Given the description of an element on the screen output the (x, y) to click on. 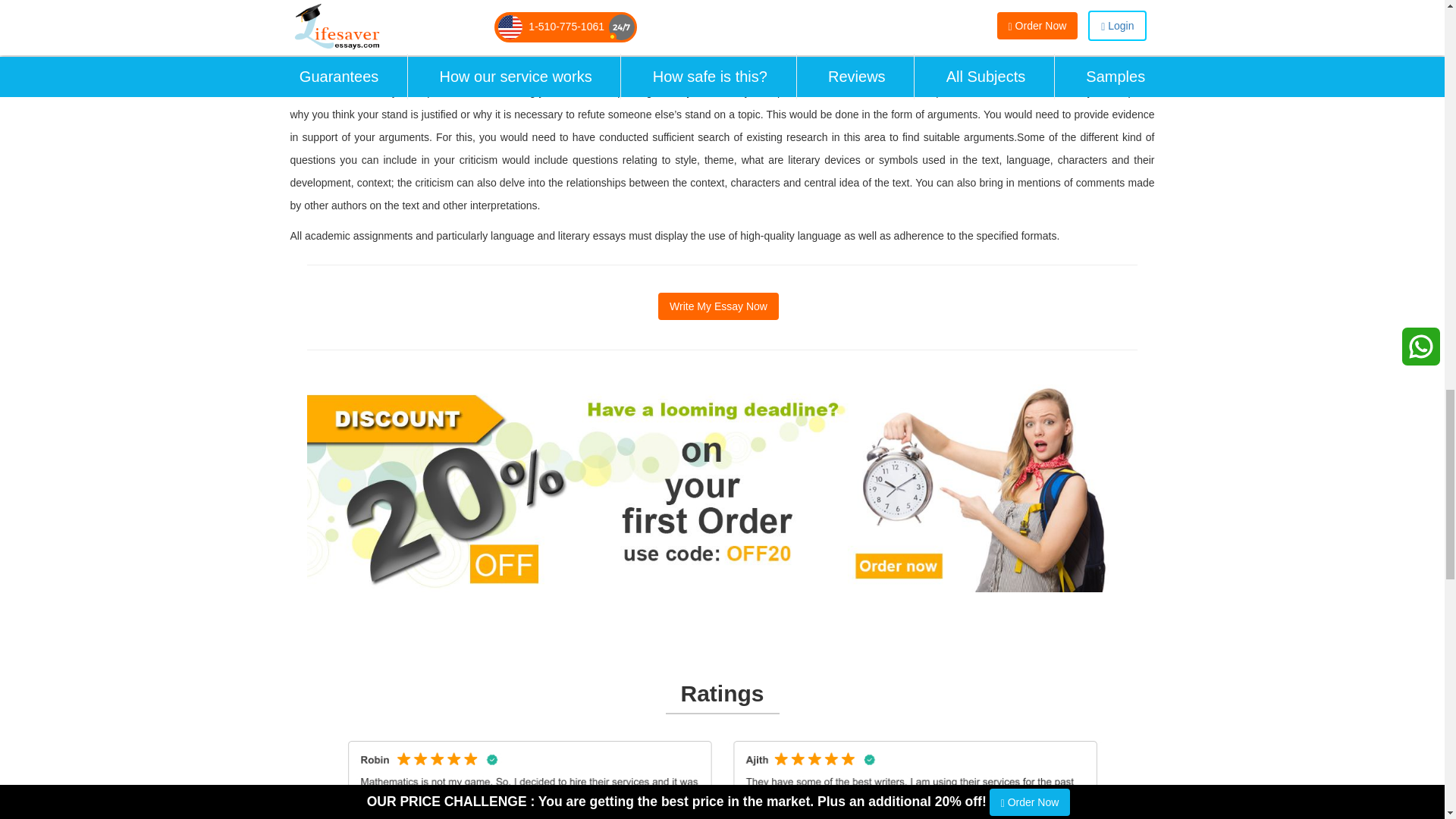
Write My Essay Now (718, 306)
